Given the description of an element on the screen output the (x, y) to click on. 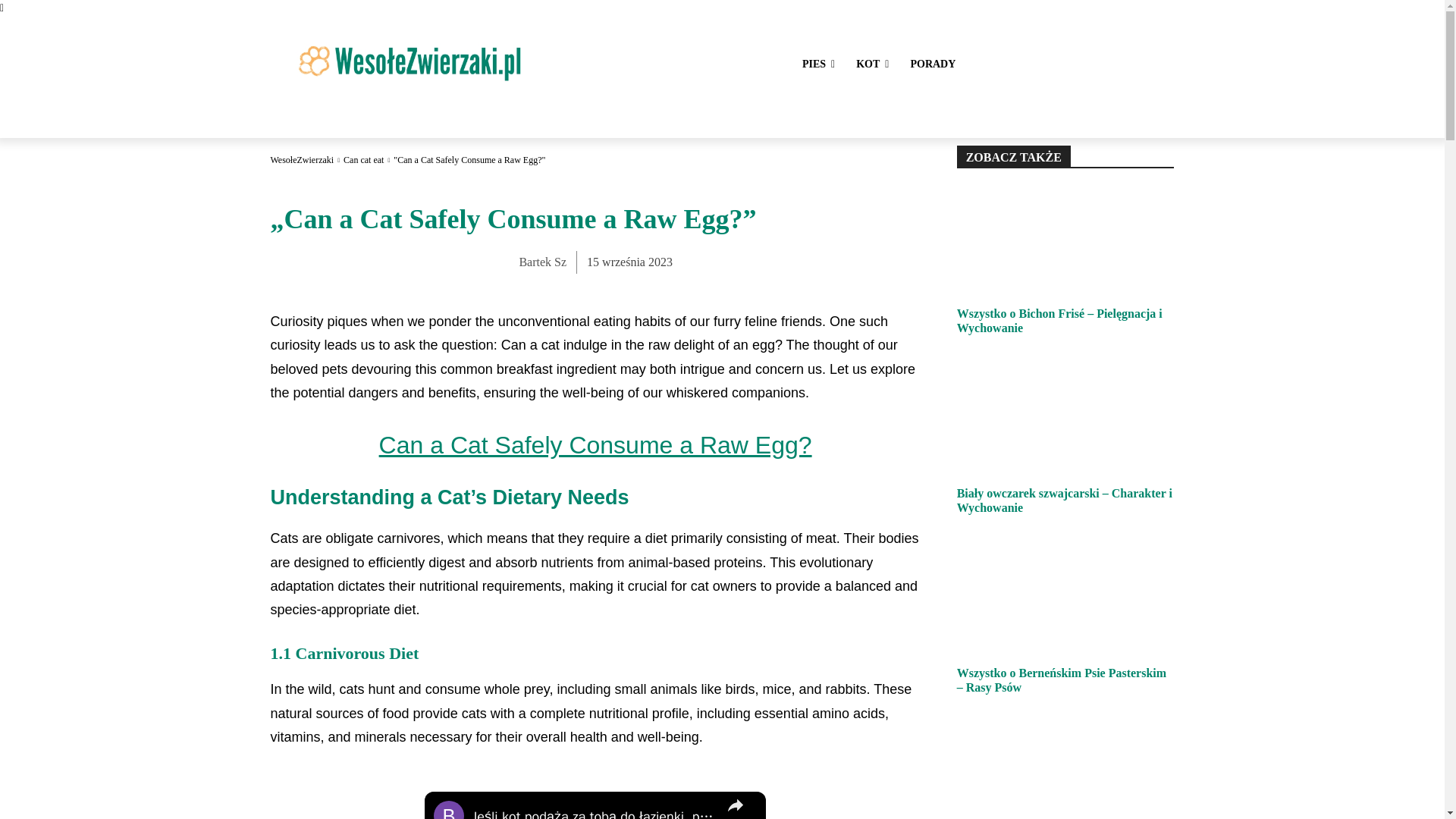
PIES (818, 63)
share (735, 805)
Bartek Sz (542, 261)
logozwierzaki (408, 62)
Share (735, 805)
KOT (872, 63)
Can cat eat (363, 159)
logozwierzaki (408, 62)
PORADY (932, 63)
